Given the description of an element on the screen output the (x, y) to click on. 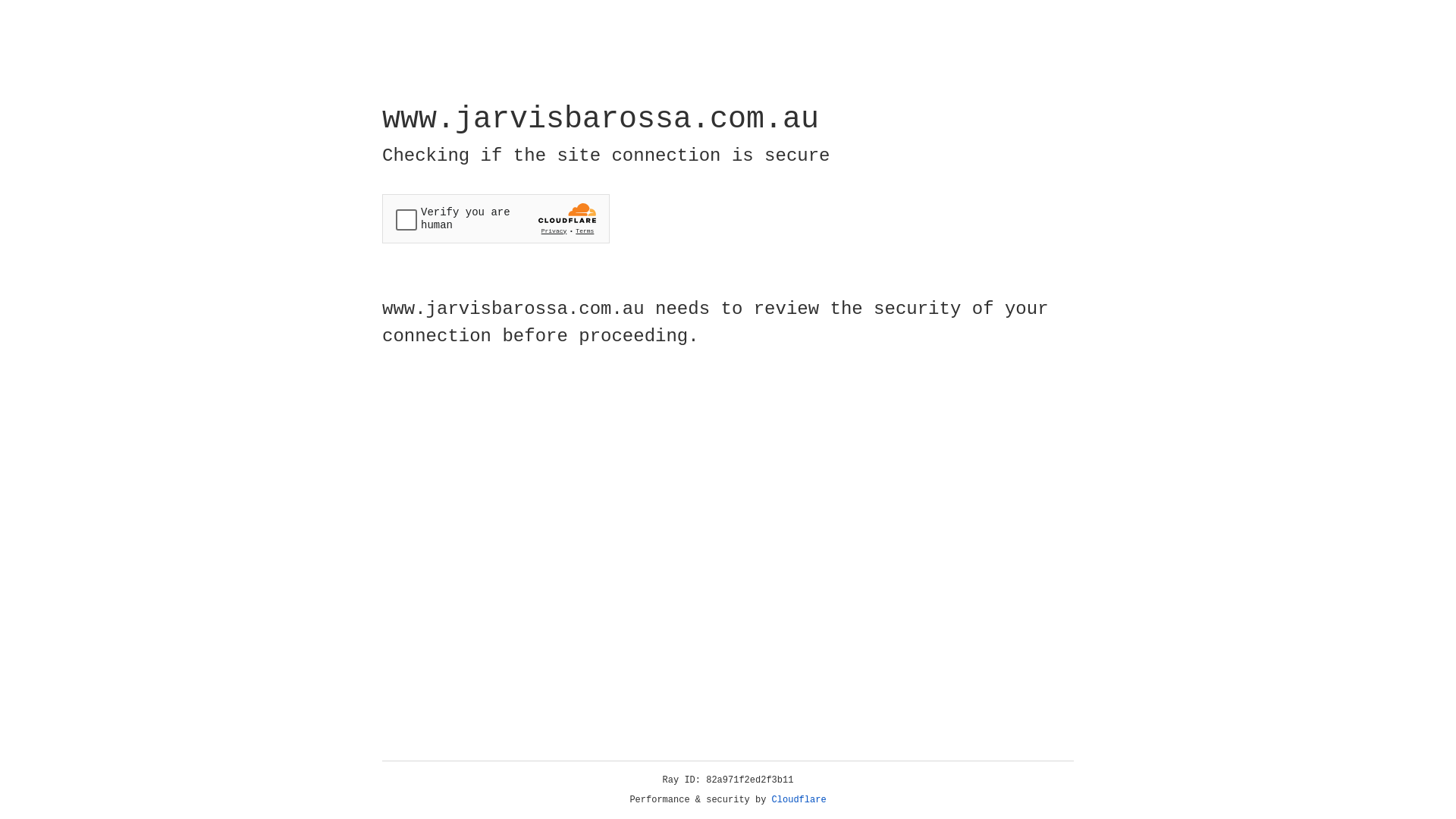
Cloudflare Element type: text (798, 799)
Widget containing a Cloudflare security challenge Element type: hover (495, 218)
